Given the description of an element on the screen output the (x, y) to click on. 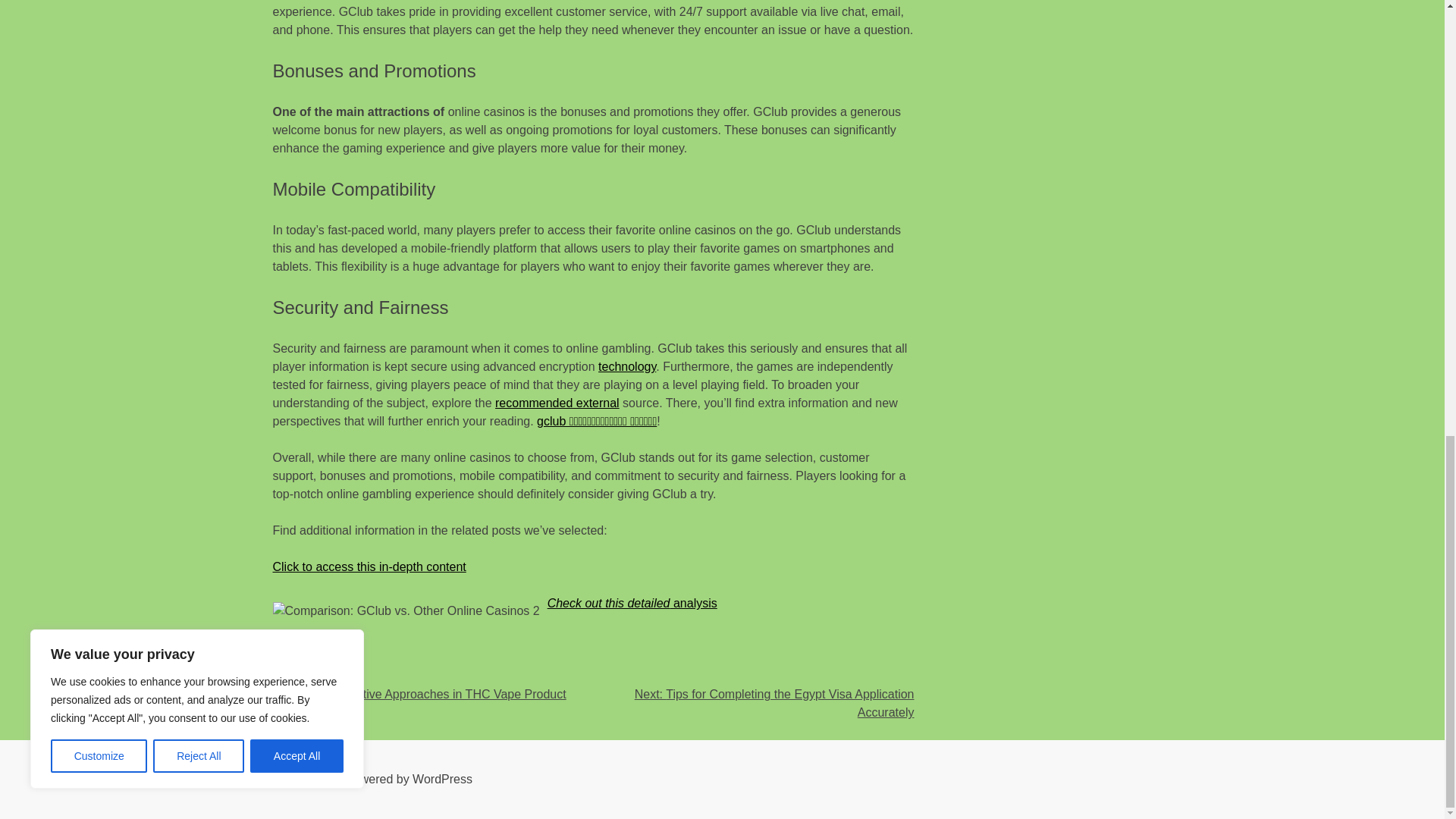
Grasp ahead (308, 639)
Click to access this in-depth content (369, 566)
Guidelines (333, 675)
recommended external (557, 402)
Check out this detailed analysis (632, 603)
technology (627, 366)
